Given the description of an element on the screen output the (x, y) to click on. 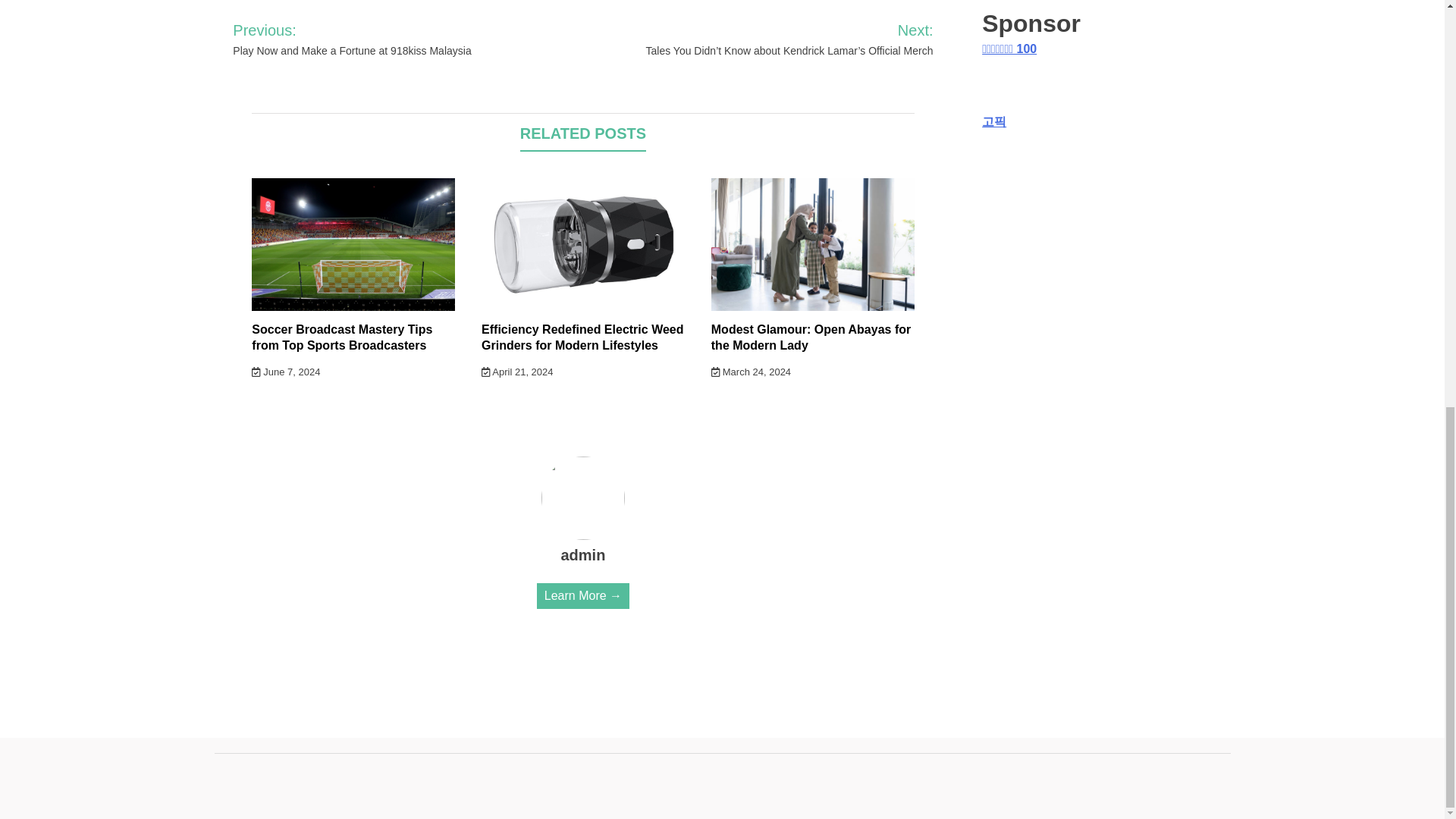
June 7, 2024 (285, 371)
Modest Glamour: Open Abayas for the Modern Lady (811, 337)
Soccer Broadcast Mastery Tips from Top Sports Broadcasters (341, 337)
March 24, 2024 (750, 371)
April 21, 2024 (517, 371)
Previous: Play Now and Make a Fortune at 918kiss Malaysia (384, 38)
